Given the description of an element on the screen output the (x, y) to click on. 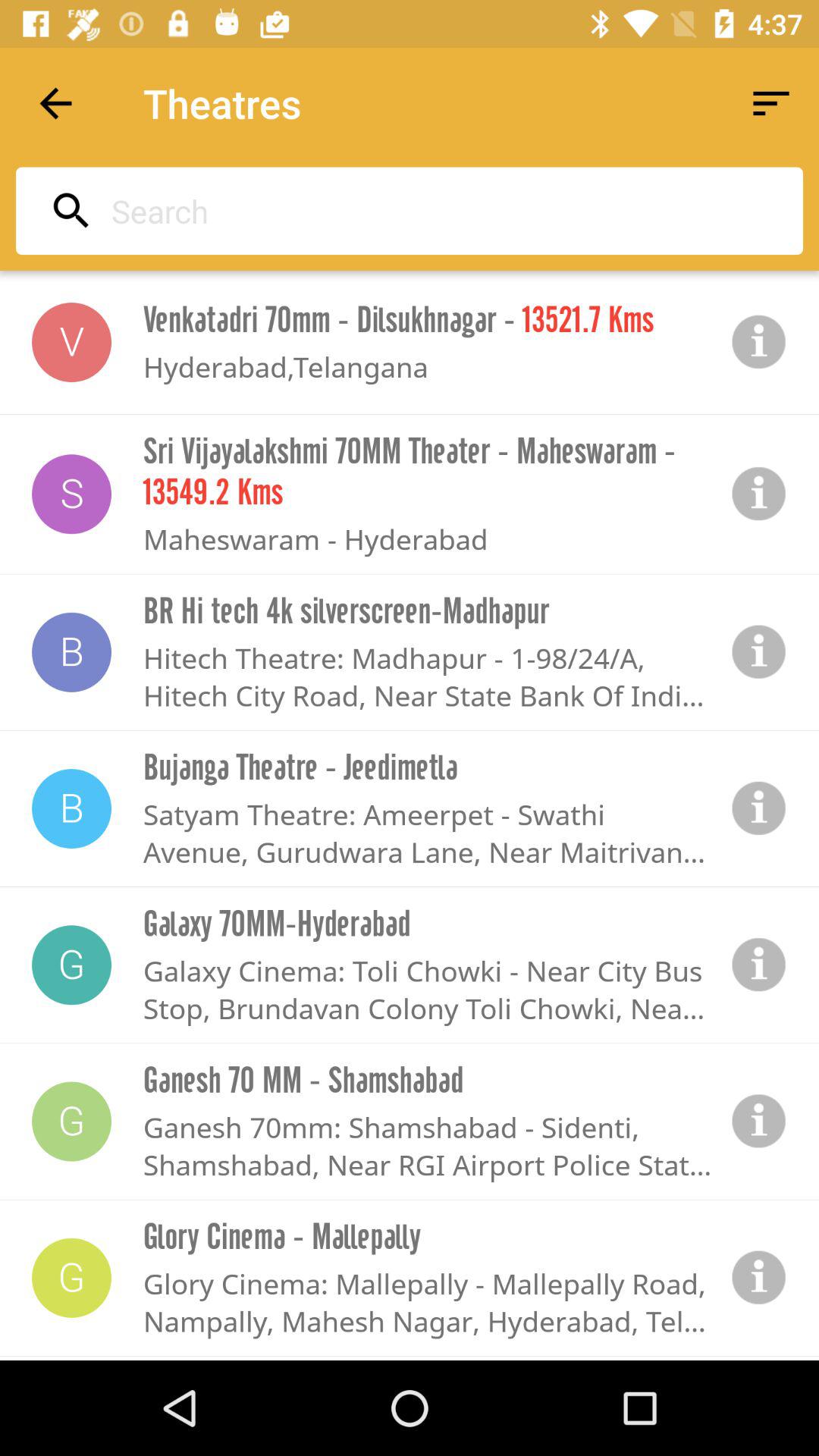
information (759, 652)
